Given the description of an element on the screen output the (x, y) to click on. 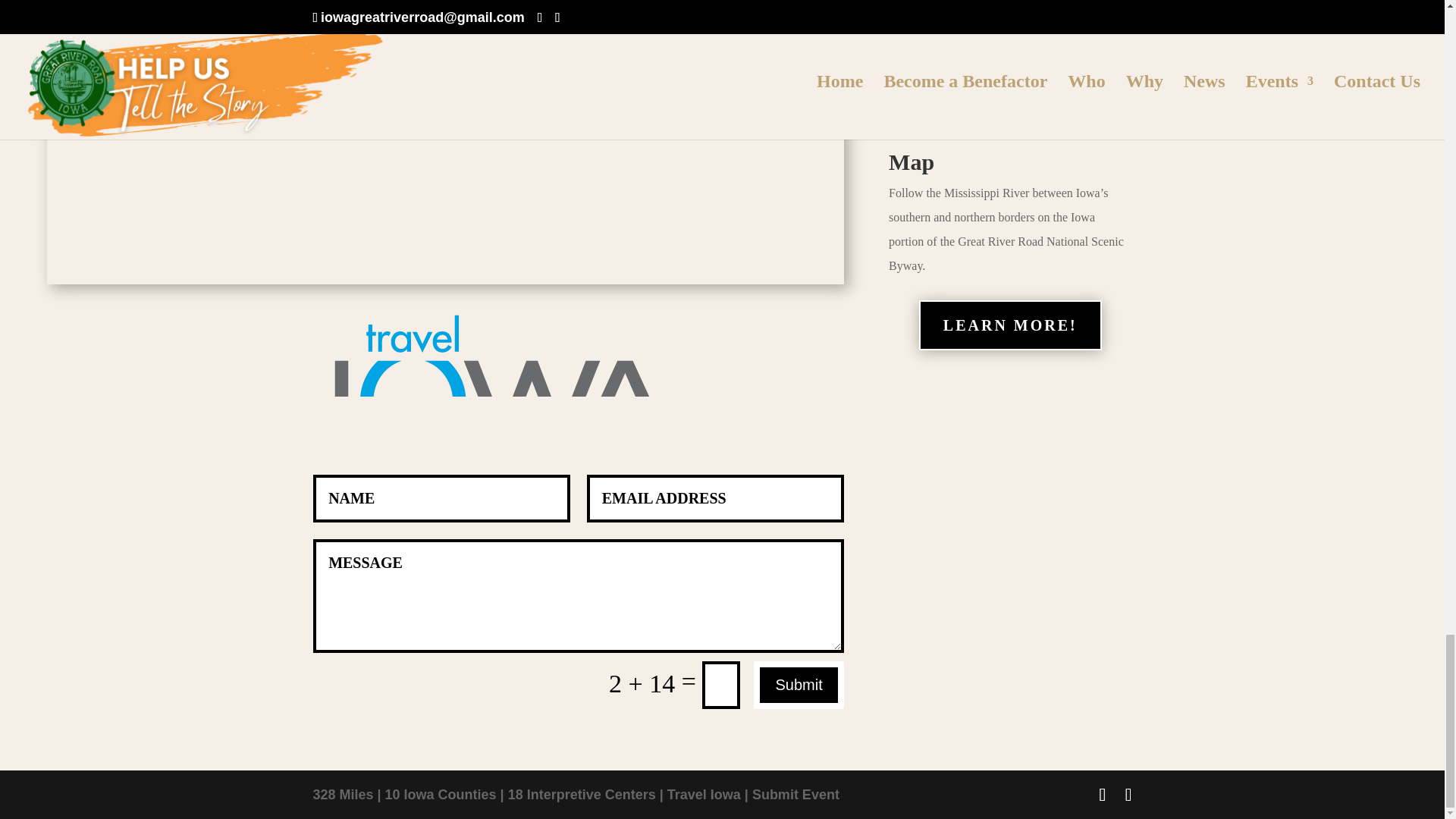
Map (911, 161)
LEARN MORE! (1010, 325)
Submit Event (796, 794)
Submit (798, 684)
LEARN MORE! (1010, 56)
